Given the description of an element on the screen output the (x, y) to click on. 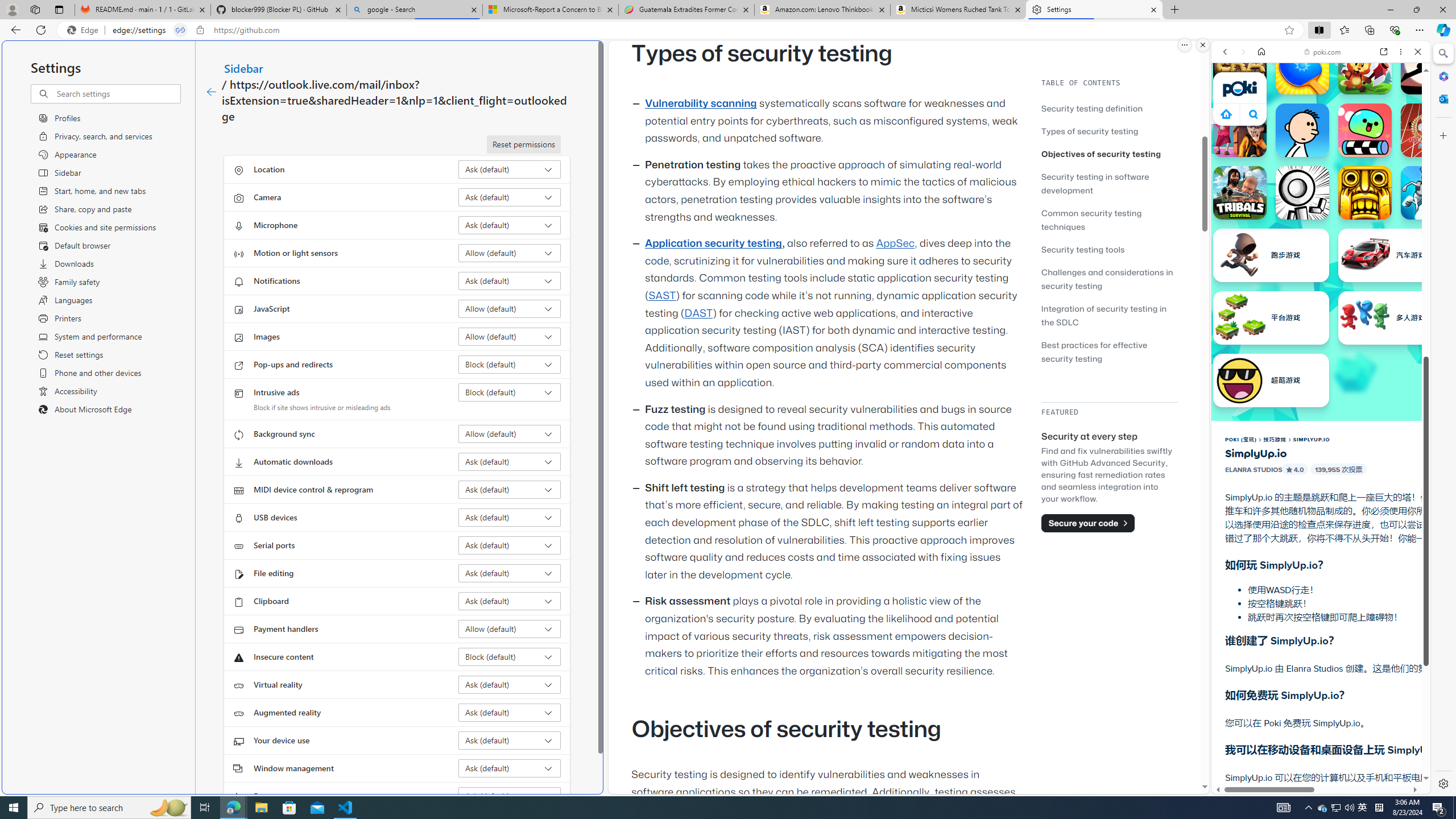
Background sync Allow (default) (509, 434)
Insecure content Block (default) (509, 656)
Combat Reloaded (1349, 580)
Hills of Steel (1253, 574)
Car Games (1320, 267)
Pop-ups and redirects Block (default) (509, 364)
Virtual reality Ask (default) (509, 684)
